Given the description of an element on the screen output the (x, y) to click on. 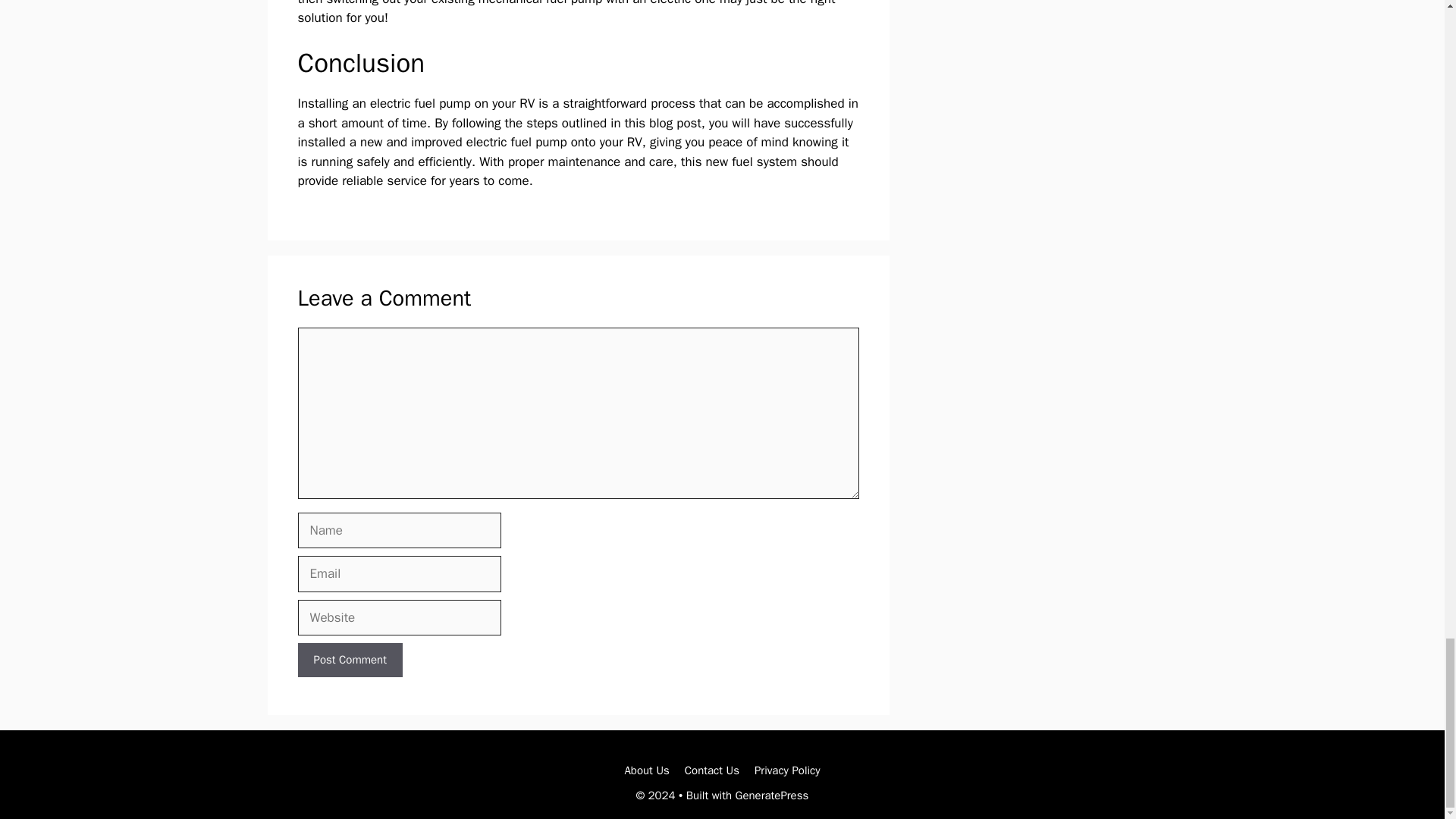
GeneratePress (772, 795)
Post Comment (349, 659)
Post Comment (349, 659)
Contact Us (711, 770)
About Us (646, 770)
Privacy Policy (787, 770)
